Given the description of an element on the screen output the (x, y) to click on. 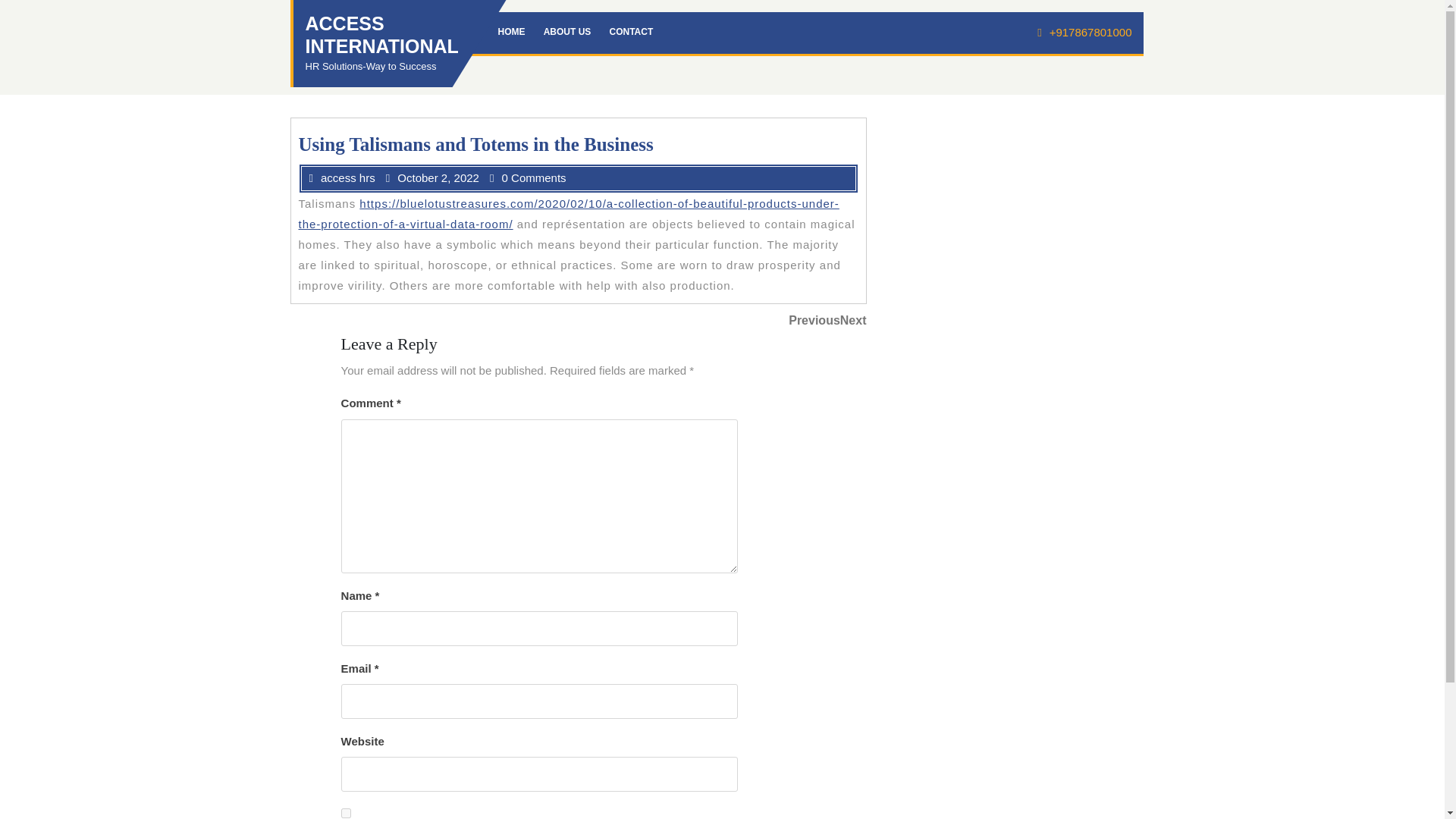
CONTACT (631, 31)
yes (846, 321)
HOME (345, 813)
ABOUT US (510, 31)
ACCESS INTERNATIONAL (566, 31)
